Given the description of an element on the screen output the (x, y) to click on. 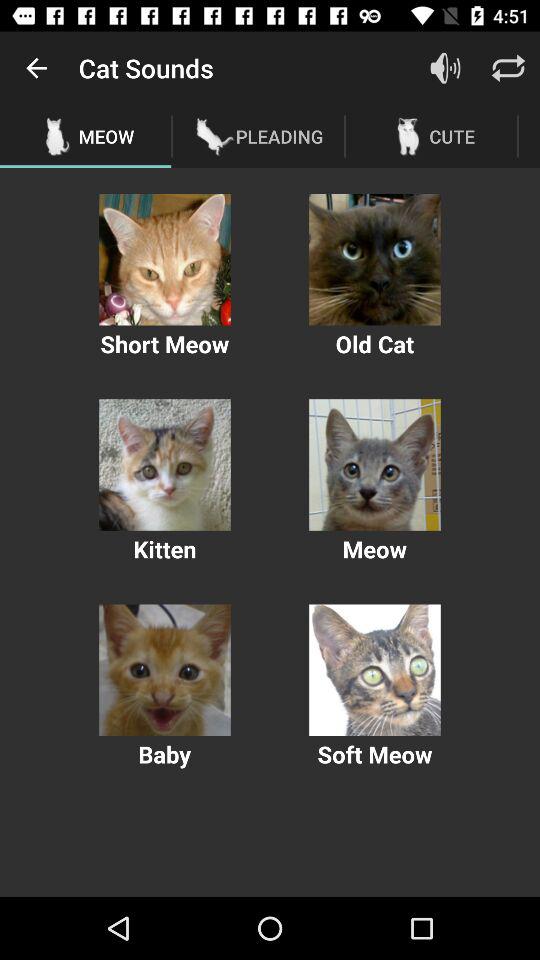
disable sound (445, 67)
